Given the description of an element on the screen output the (x, y) to click on. 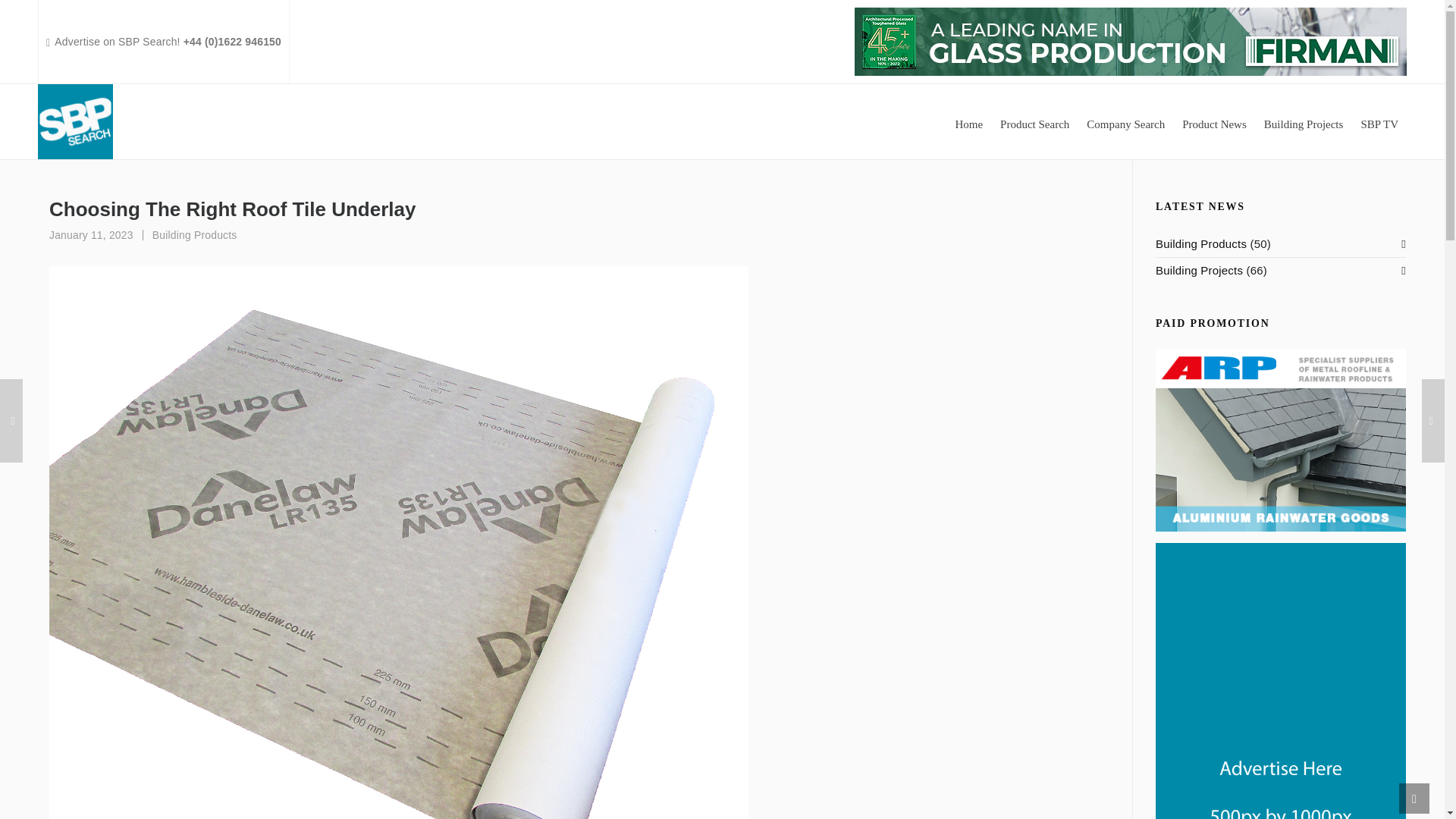
Design Considerations When Specifying Rooflights (11, 420)
